Given the description of an element on the screen output the (x, y) to click on. 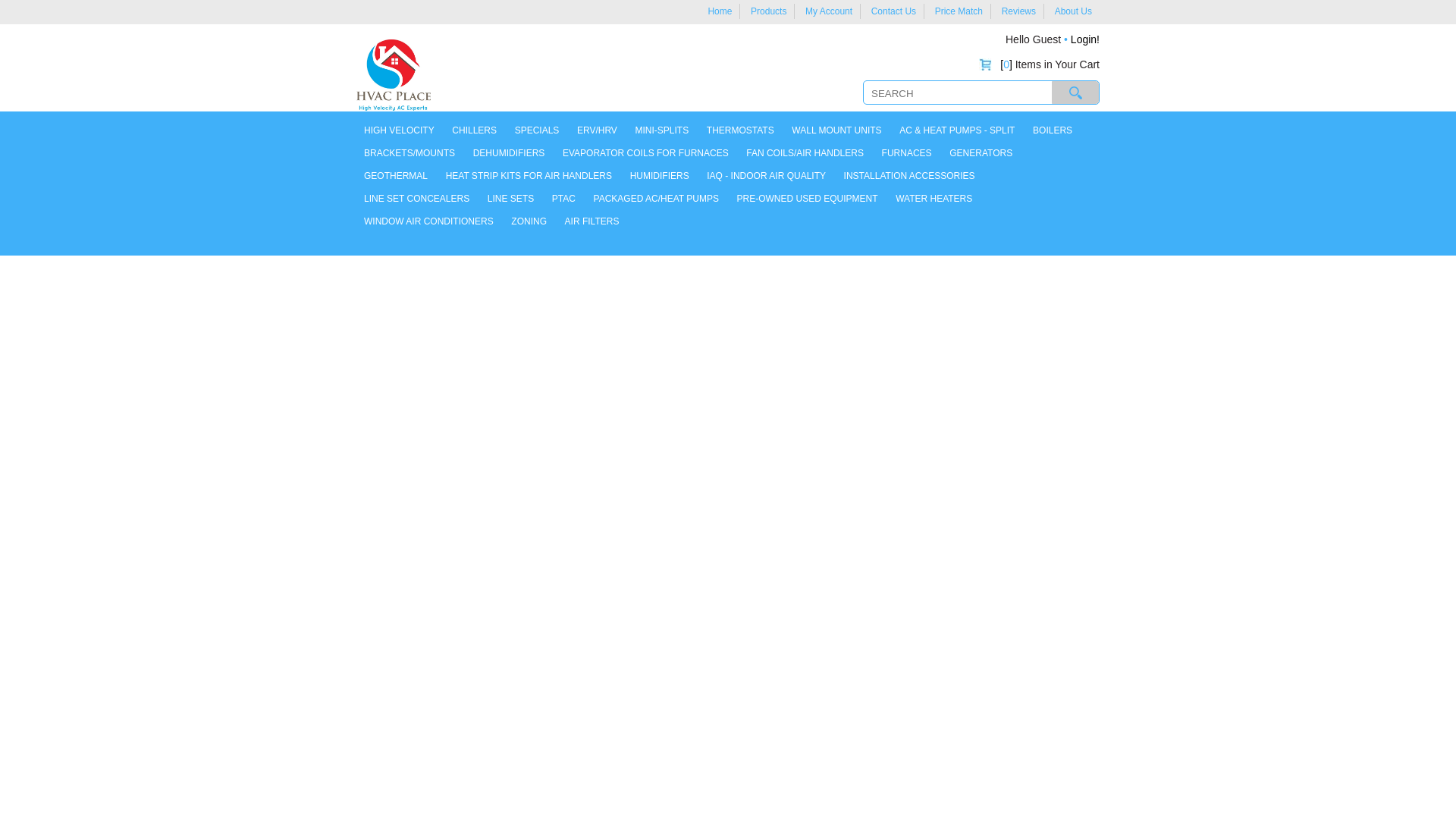
Price Match (958, 10)
My Account (828, 10)
FURNACES (907, 152)
SPECIALS (536, 129)
Login! (1084, 39)
EVAPORATOR COILS FOR FURNACES (645, 152)
About Us (1073, 10)
HEAT STRIP KITS FOR AIR HANDLERS (529, 175)
Reviews (1018, 10)
IAQ - INDOOR AIR QUALITY (765, 175)
